Given the description of an element on the screen output the (x, y) to click on. 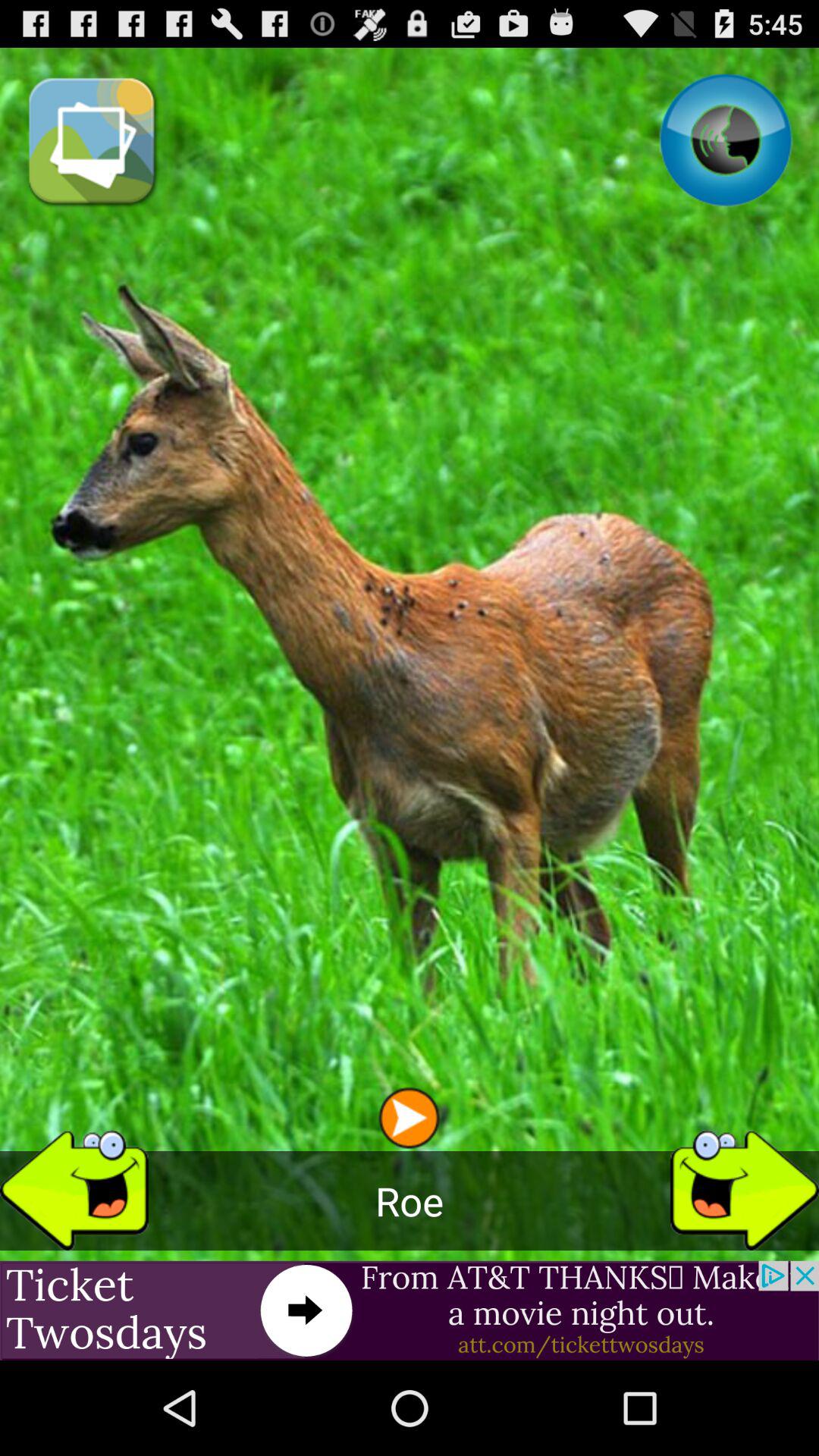
choose item at the bottom left corner (74, 1184)
